Given the description of an element on the screen output the (x, y) to click on. 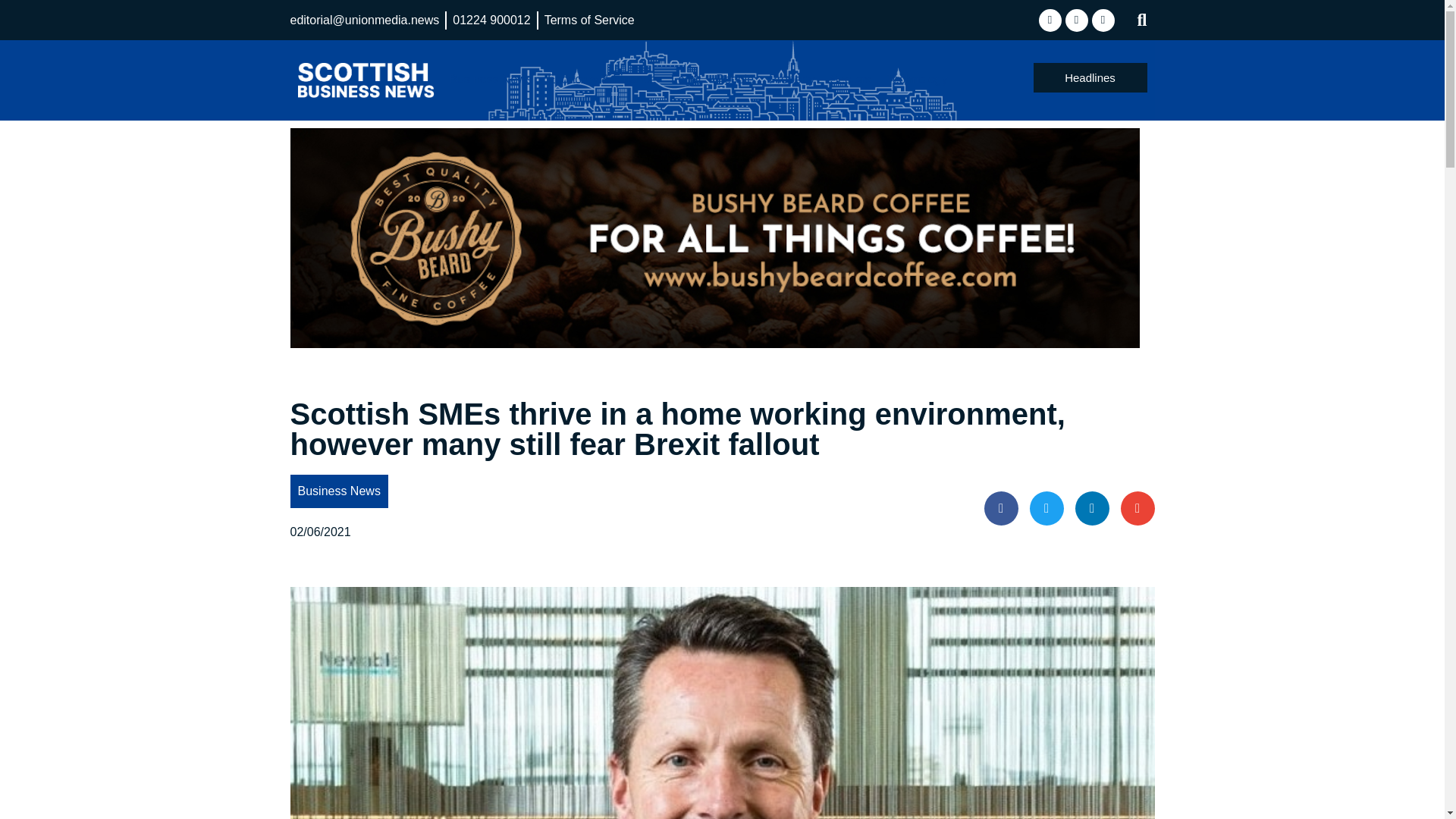
Terms of Service (589, 19)
Business News (489, 78)
People (734, 78)
01224 900012 (490, 19)
Sectors (850, 78)
Property (791, 78)
Legal (685, 78)
